Given the description of an element on the screen output the (x, y) to click on. 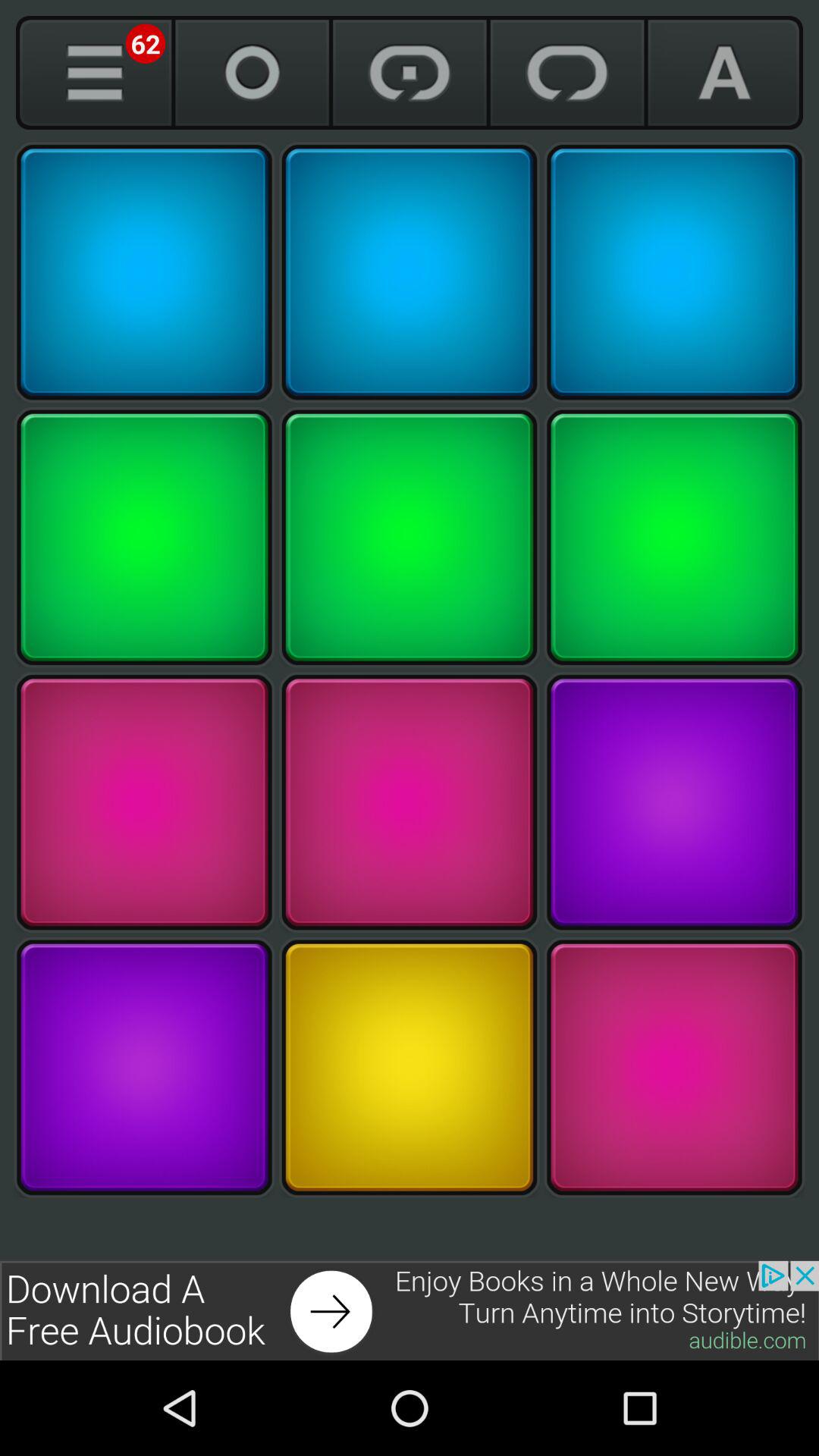
click to make beat (409, 537)
